Given the description of an element on the screen output the (x, y) to click on. 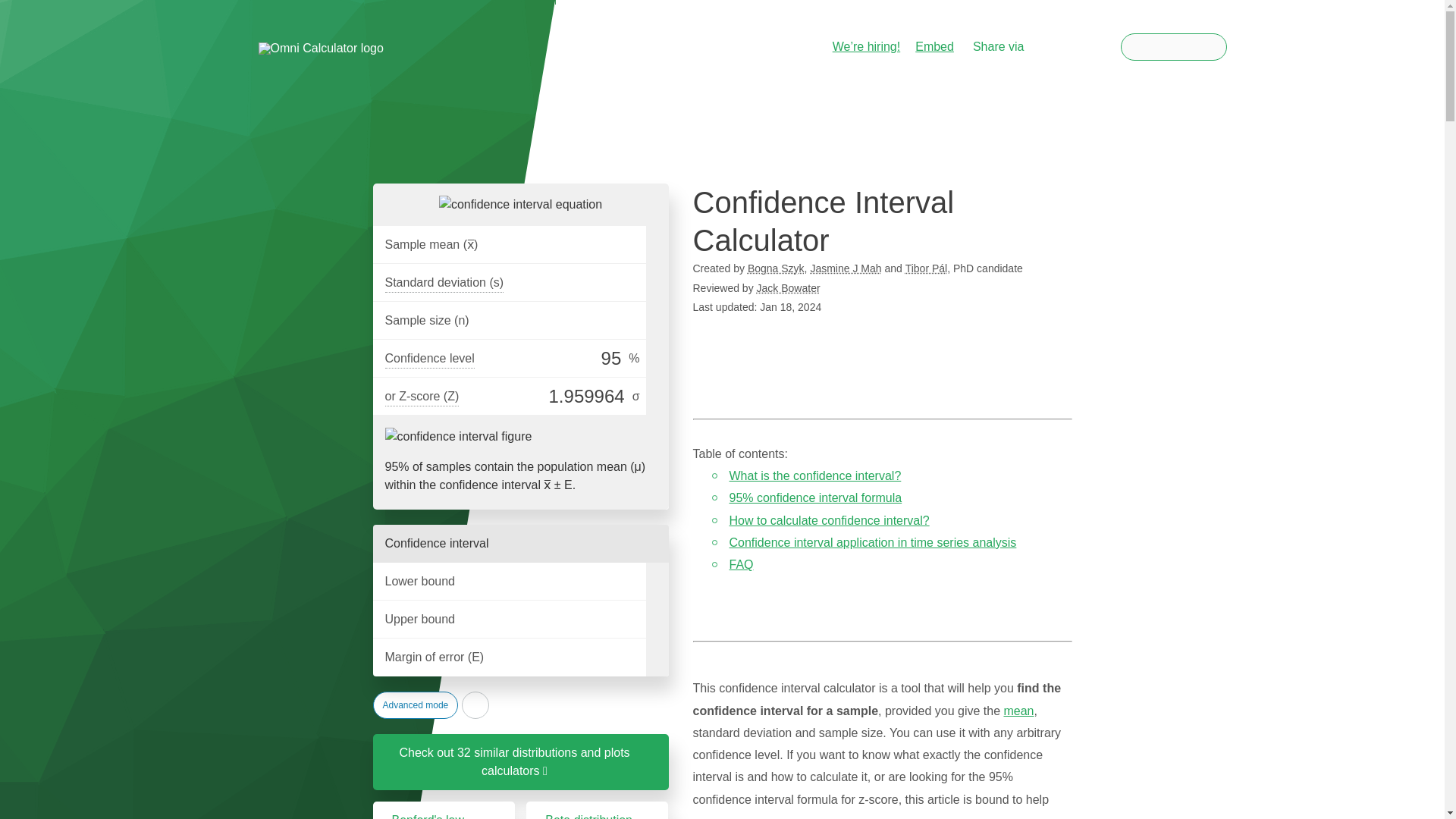
1.959964 (545, 396)
How to calculate confidence interval? (829, 520)
95 (552, 358)
reload (475, 705)
Embed (934, 46)
Advanced mode (415, 705)
What is the confidence interval? (815, 475)
FAQ (741, 563)
mean (1018, 710)
Confidence interval application in time series analysis (872, 542)
